Given the description of an element on the screen output the (x, y) to click on. 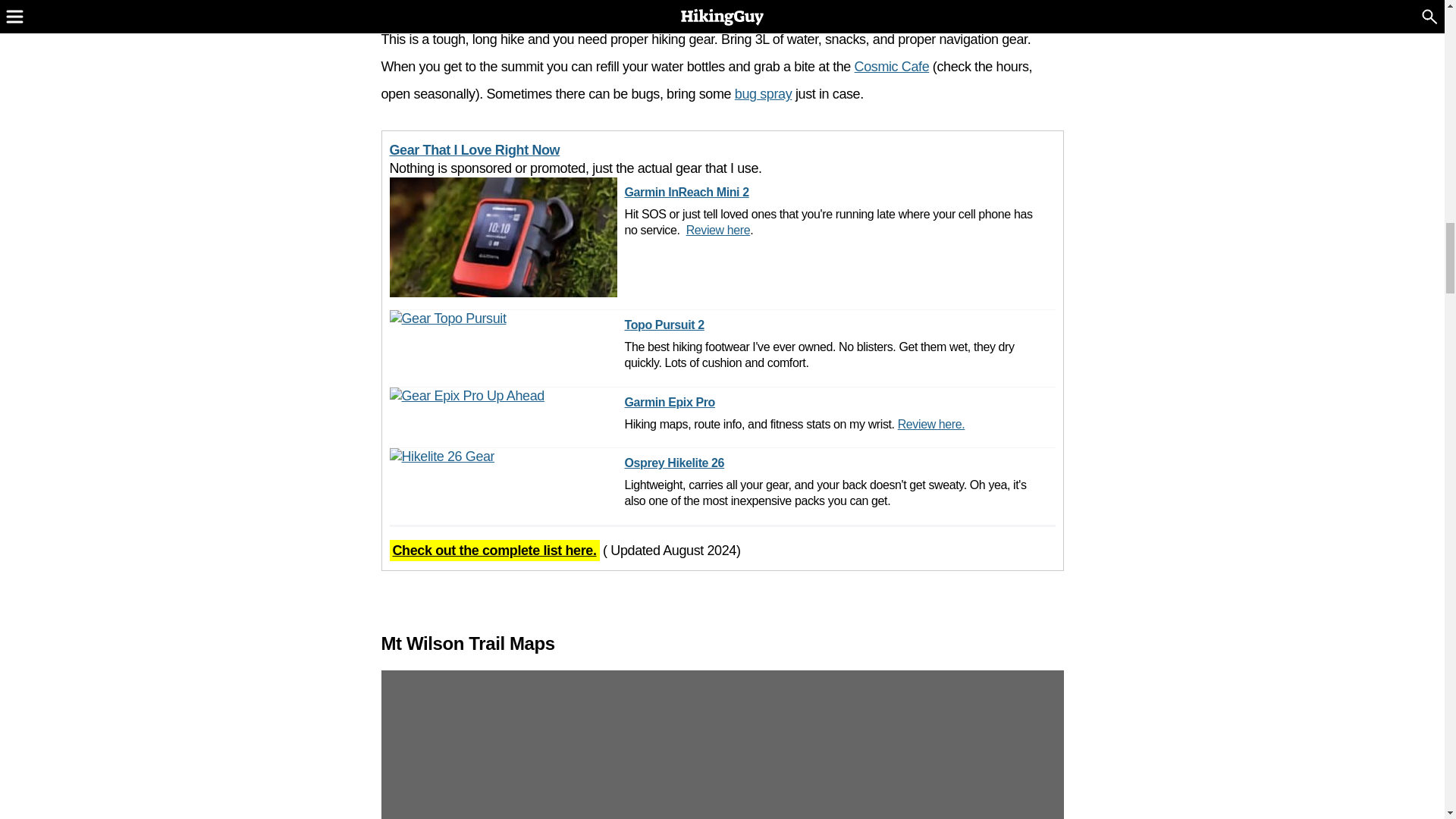
CLICK HERE TO VIEW (721, 744)
Hike Map (721, 744)
Gear That I Love Right Now (475, 150)
Cosmic Cafe (892, 66)
Garmin Epix Pro (794, 402)
Review here (718, 229)
Garmin InReach Mini 2 (836, 192)
bug spray (763, 93)
Review here. (931, 423)
Topo Pursuit 2 (836, 325)
